Given the description of an element on the screen output the (x, y) to click on. 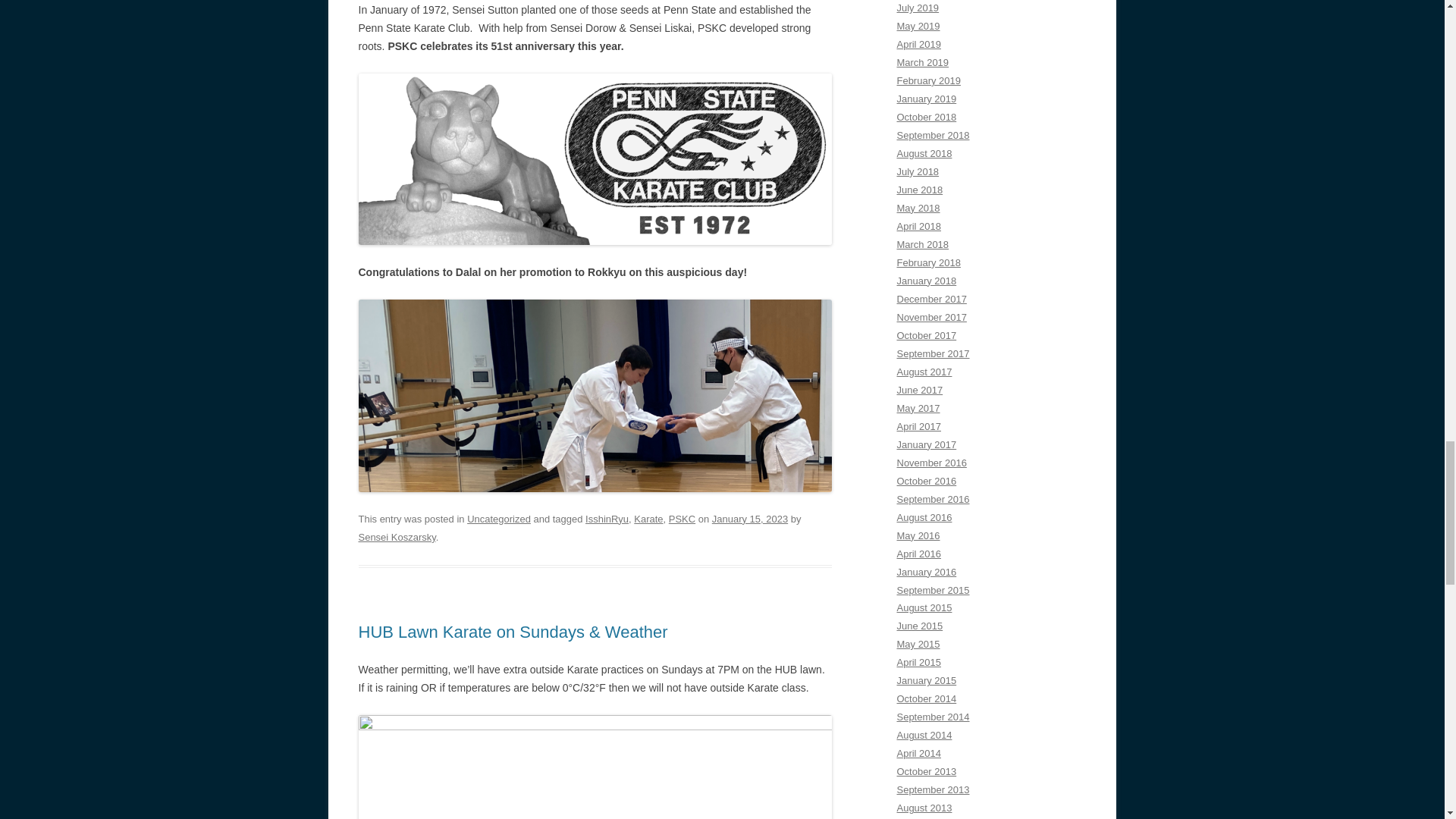
IsshinRyu (606, 518)
Karate (647, 518)
View all posts by Sensei Koszarsky (396, 536)
PSKC (681, 518)
January 15, 2023 (749, 518)
Uncategorized (499, 518)
6:28 pm (749, 518)
